Given the description of an element on the screen output the (x, y) to click on. 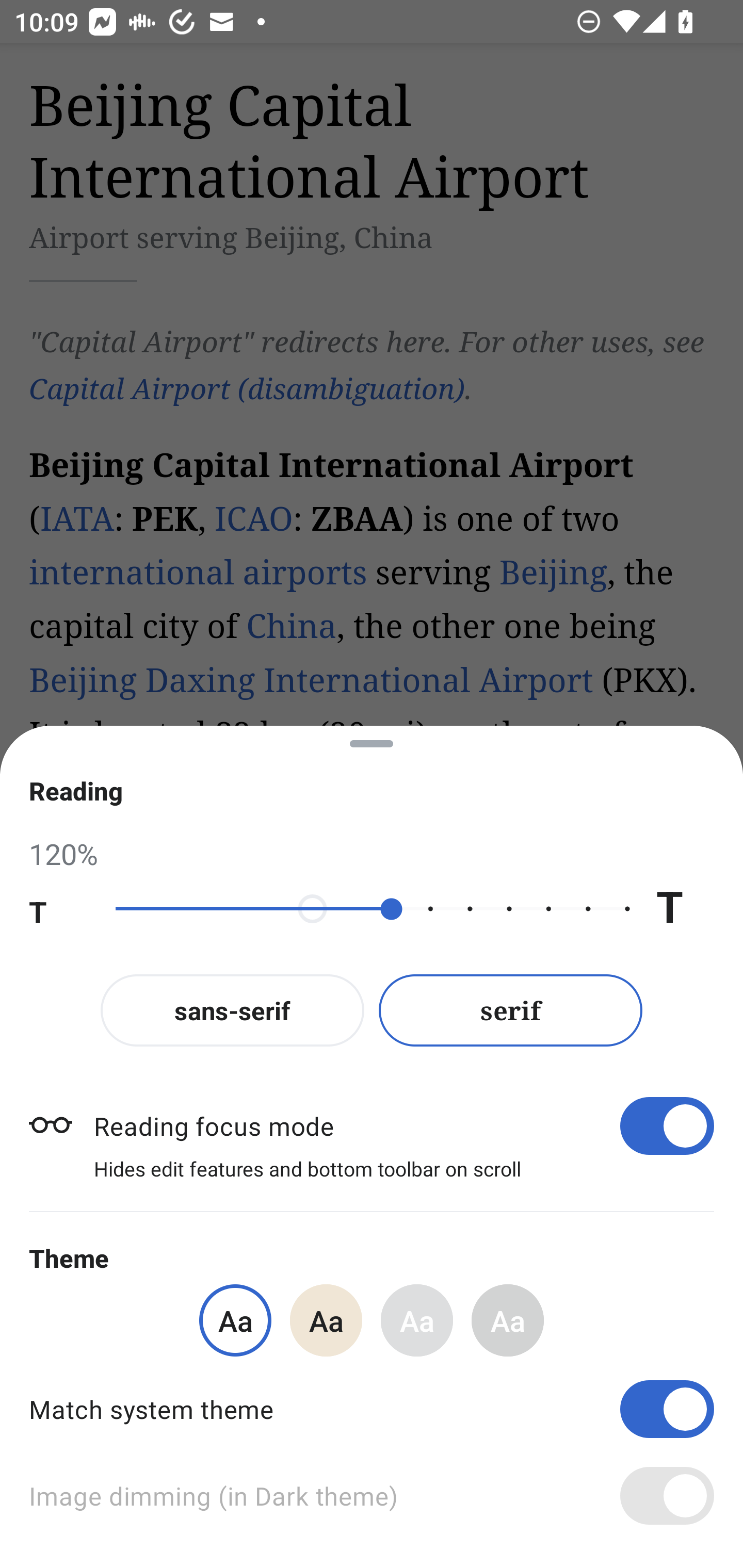
T Decrease text size (57, 909)
T Increase text size (685, 909)
sans-serif (232, 1010)
serif (510, 1010)
Reading focus mode (403, 1125)
Aa (325, 1320)
Aa (416, 1320)
Aa (507, 1320)
Match system theme (371, 1408)
Image dimming (in Dark theme) (371, 1495)
